Given the description of an element on the screen output the (x, y) to click on. 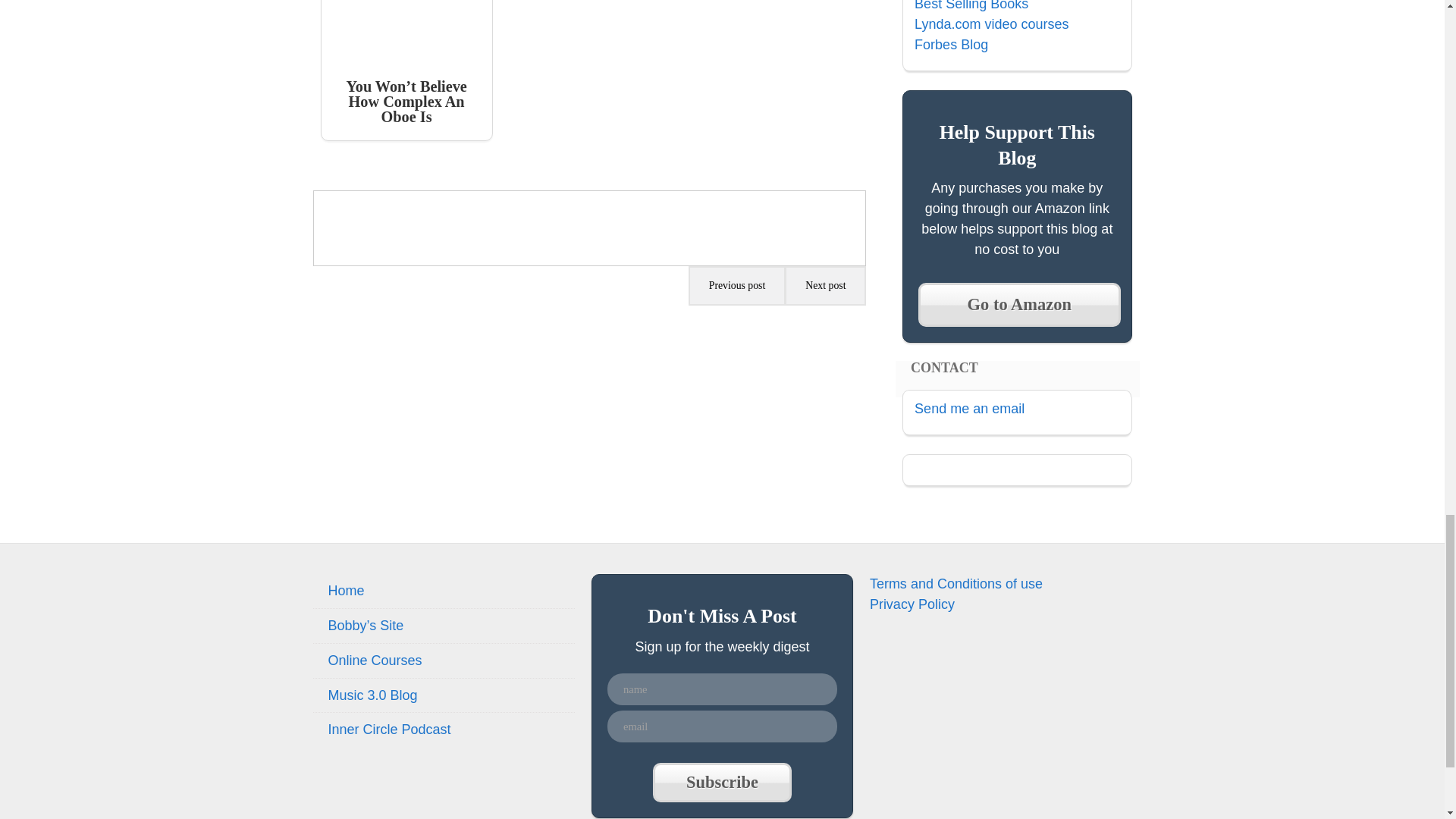
Subscribe (721, 782)
Next post (825, 285)
Previous post (737, 285)
